Given the description of an element on the screen output the (x, y) to click on. 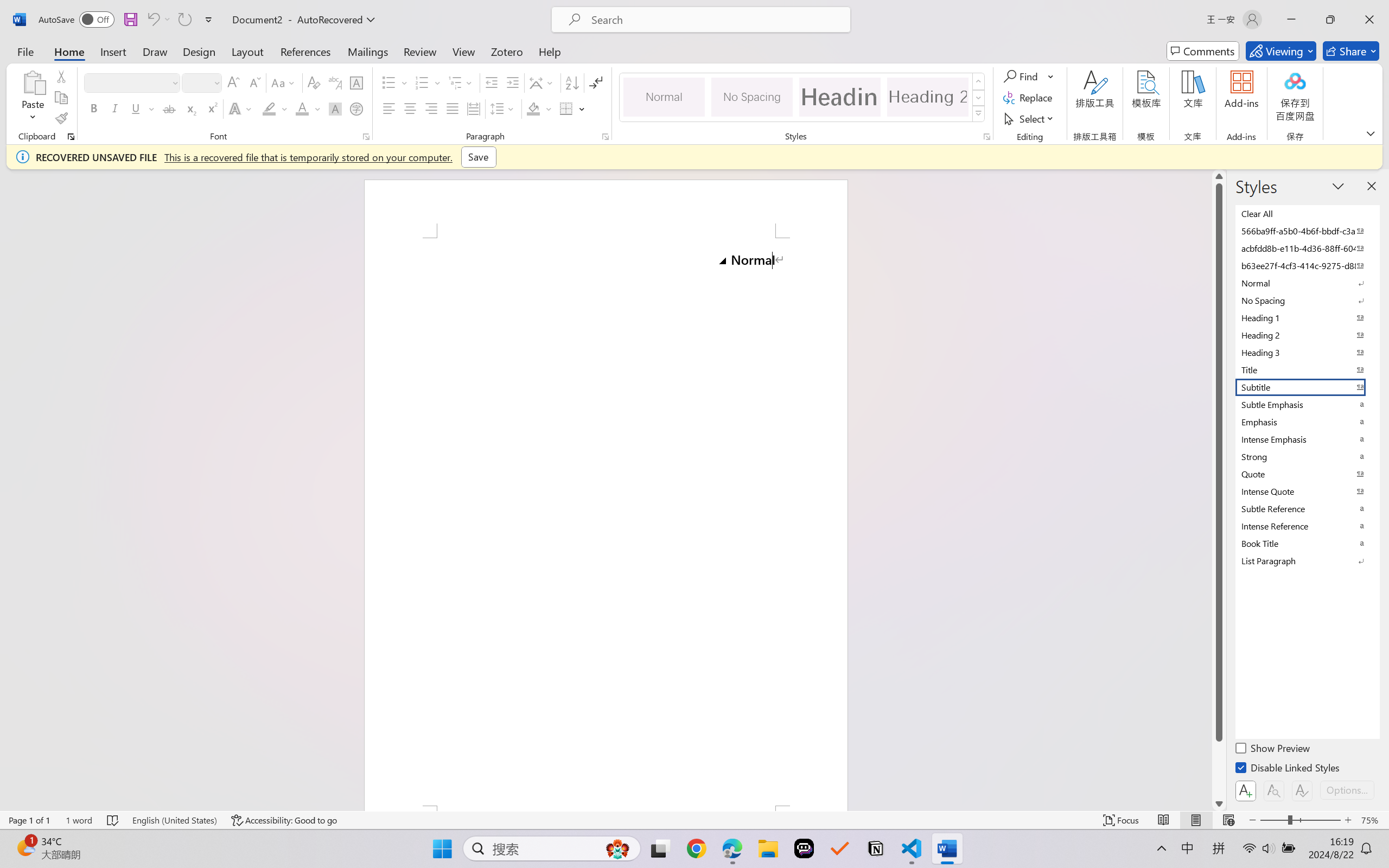
Help (549, 51)
acbfdd8b-e11b-4d36-88ff-6049b138f862 (1306, 247)
Grow Font (233, 82)
Task Pane Options (1338, 185)
Microsoft search (715, 19)
Change Case (284, 82)
Text Highlight Color (274, 108)
Center (409, 108)
Enclose Characters... (356, 108)
Can't Repeat (184, 19)
